Given the description of an element on the screen output the (x, y) to click on. 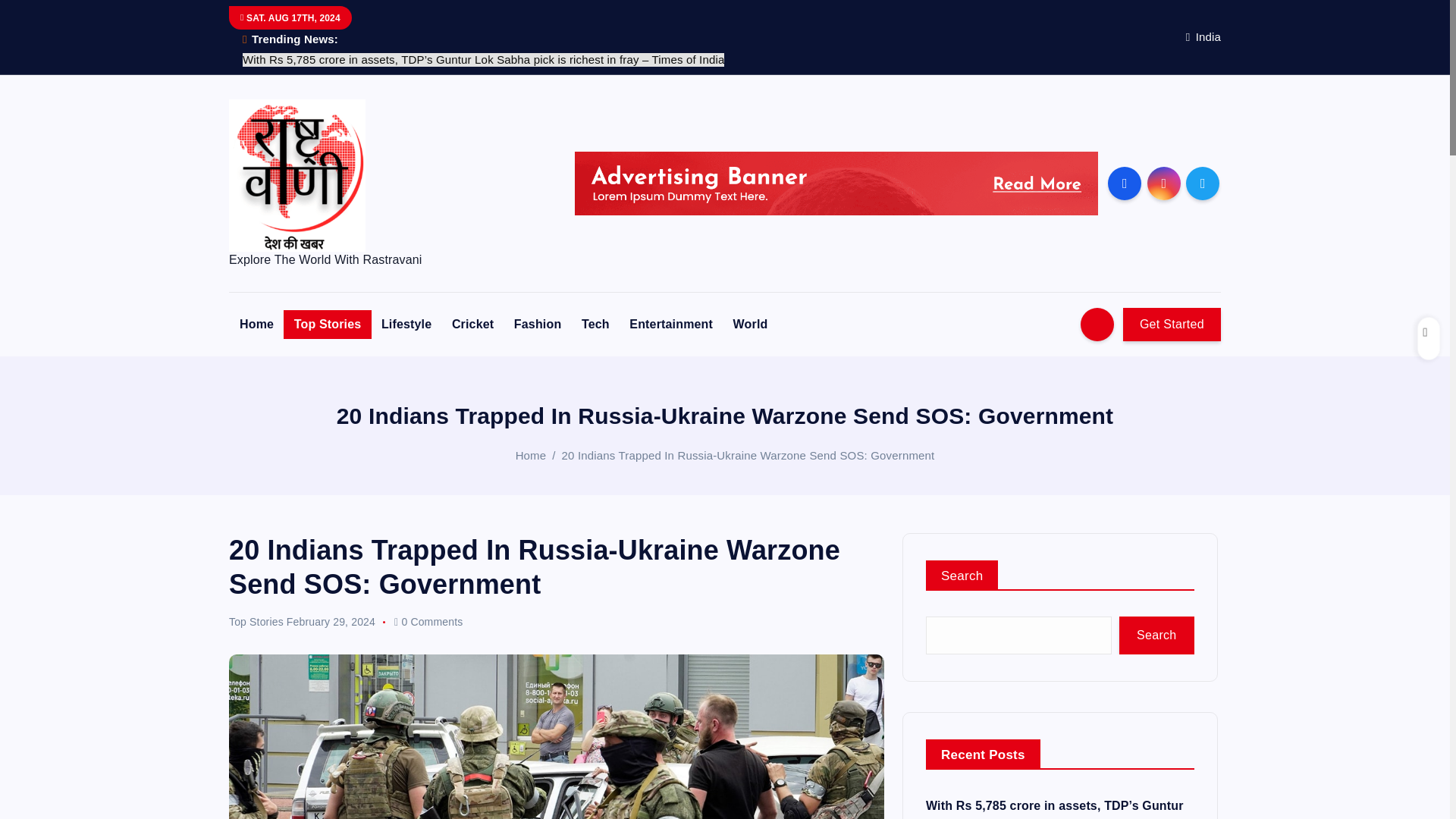
Entertainment (670, 324)
Top Stories (327, 324)
Cricket (472, 324)
Home (531, 454)
World (750, 324)
Home (255, 324)
Top Stories (327, 324)
Tech (595, 324)
World (750, 324)
